Given the description of an element on the screen output the (x, y) to click on. 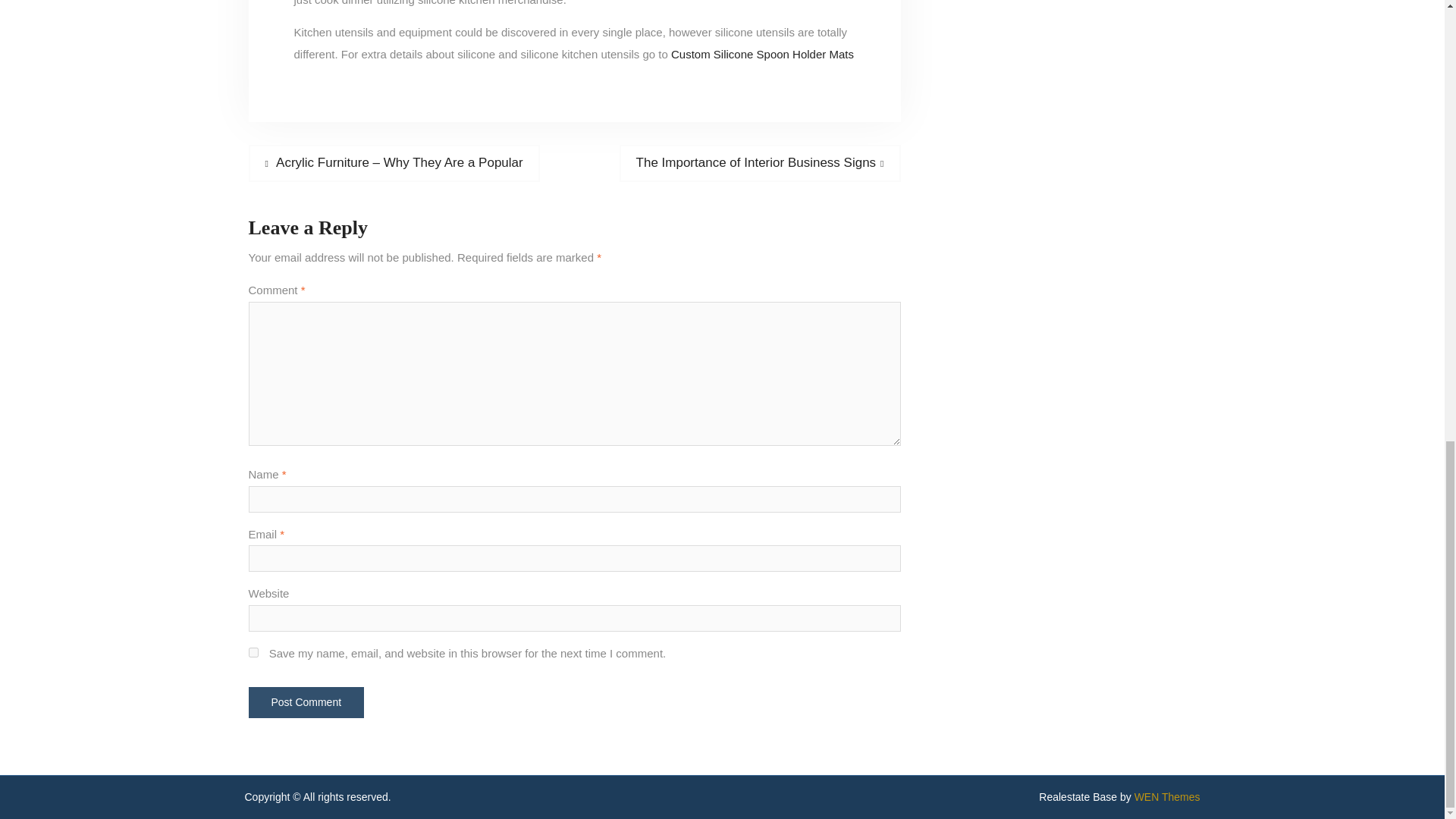
yes (253, 652)
Post Comment (306, 702)
Post Comment (760, 162)
WEN Themes (306, 702)
Custom Silicone Spoon Holder Mats (1166, 797)
